Given the description of an element on the screen output the (x, y) to click on. 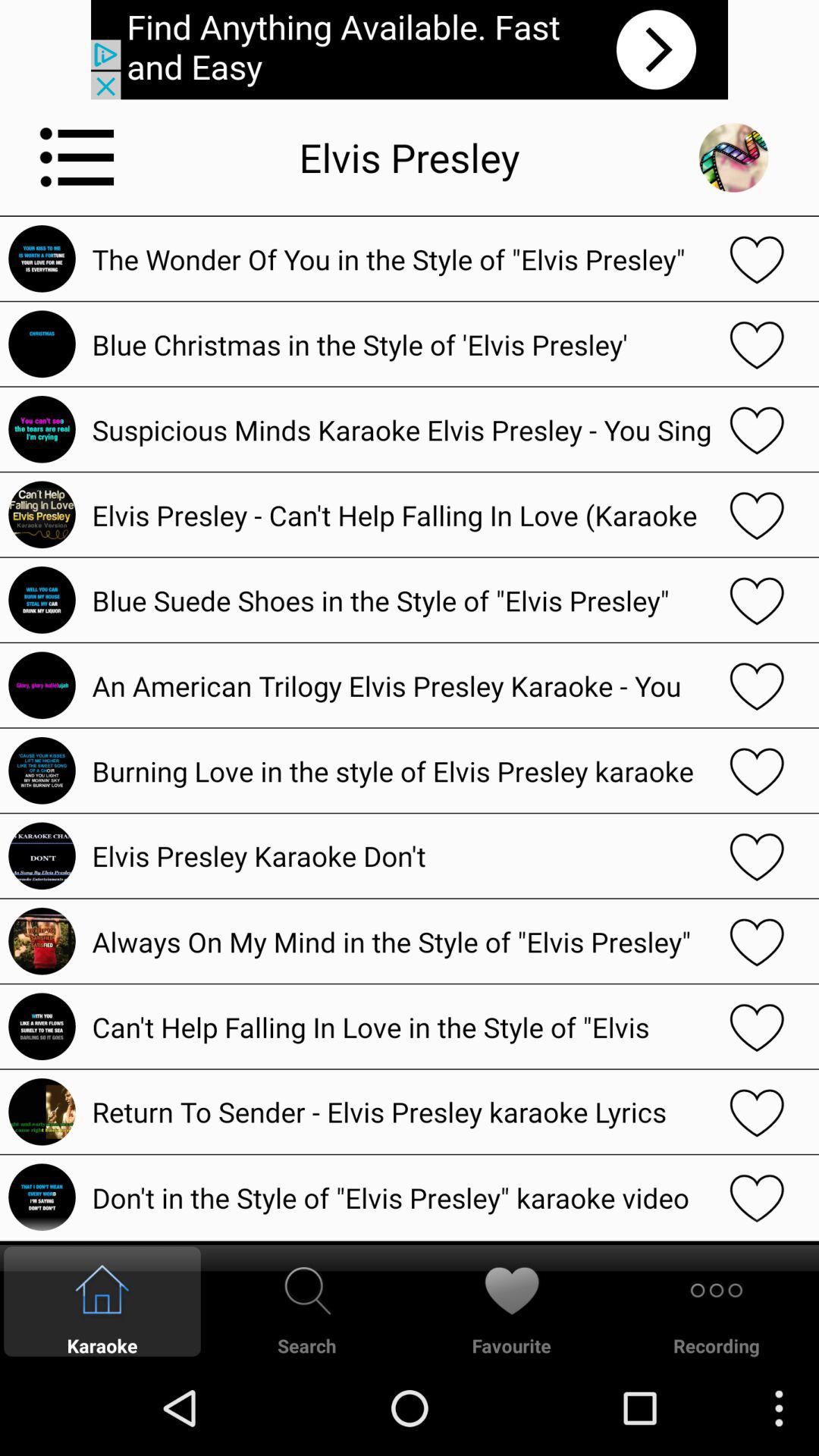
choose a song as a favorite (756, 1026)
